Given the description of an element on the screen output the (x, y) to click on. 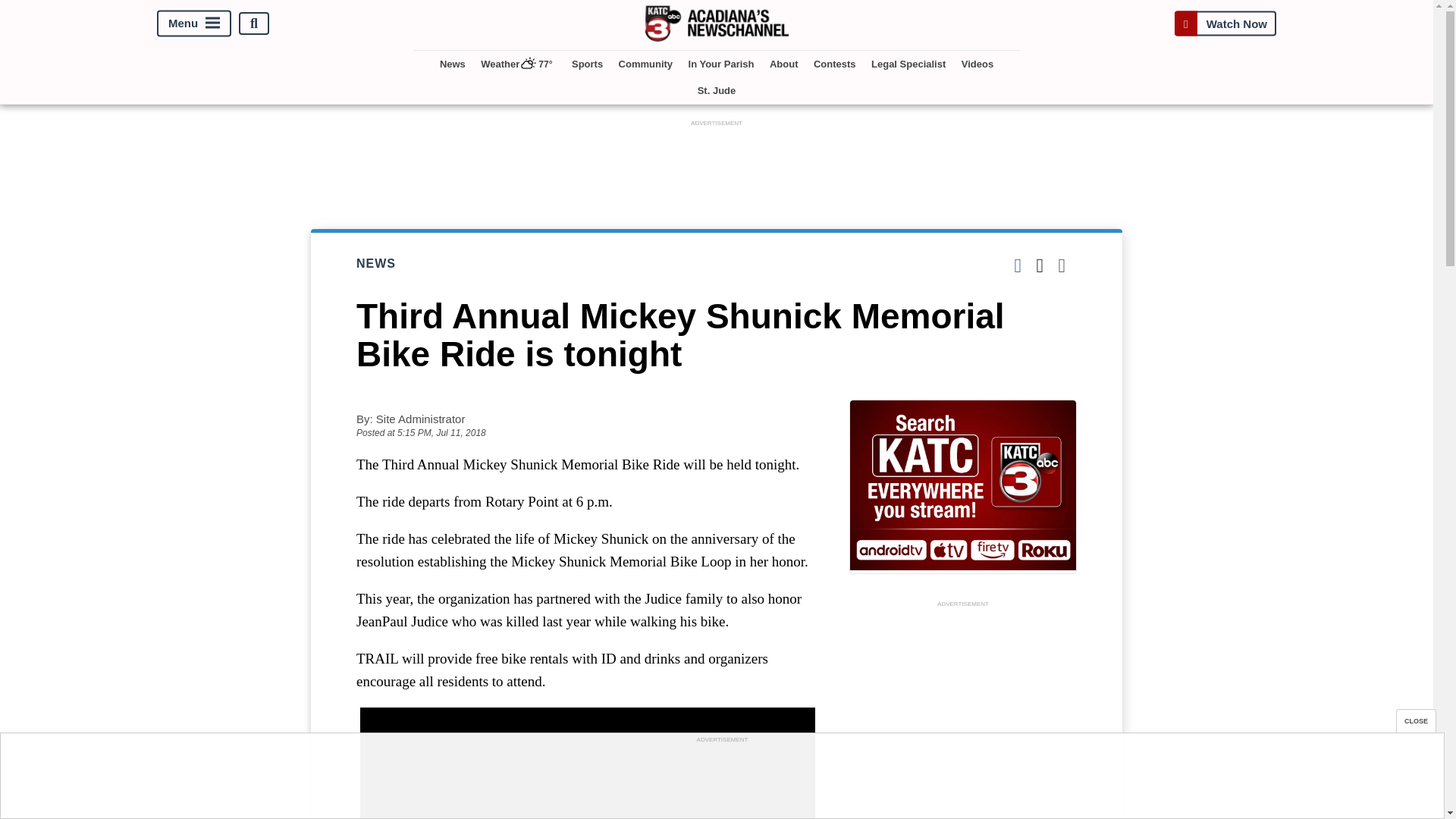
3rd party ad content (721, 780)
3rd party ad content (716, 164)
Menu (194, 23)
Watch Now (1224, 23)
3rd party ad content (962, 714)
